Given the description of an element on the screen output the (x, y) to click on. 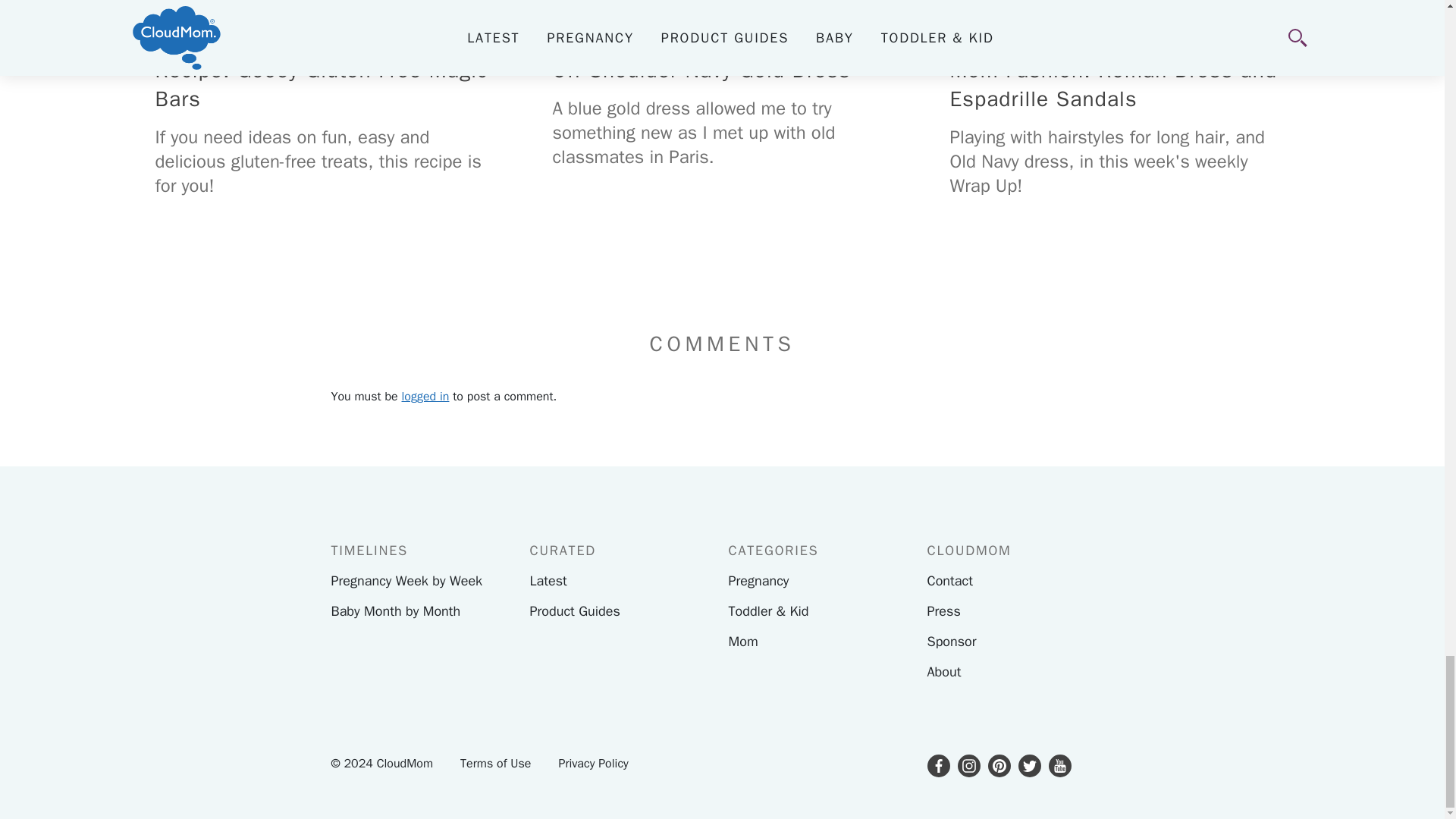
pinterest (998, 765)
Mom Fashion: Roman Dress and Espadrille Sandals (1118, 17)
youtube (1059, 765)
facebook (937, 765)
Off Shoulder Navy Gold Dress (721, 17)
twitter (1029, 765)
Recipe: Gooey Gluten-Free Magic Bars (324, 17)
instagram (967, 765)
